Given the description of an element on the screen output the (x, y) to click on. 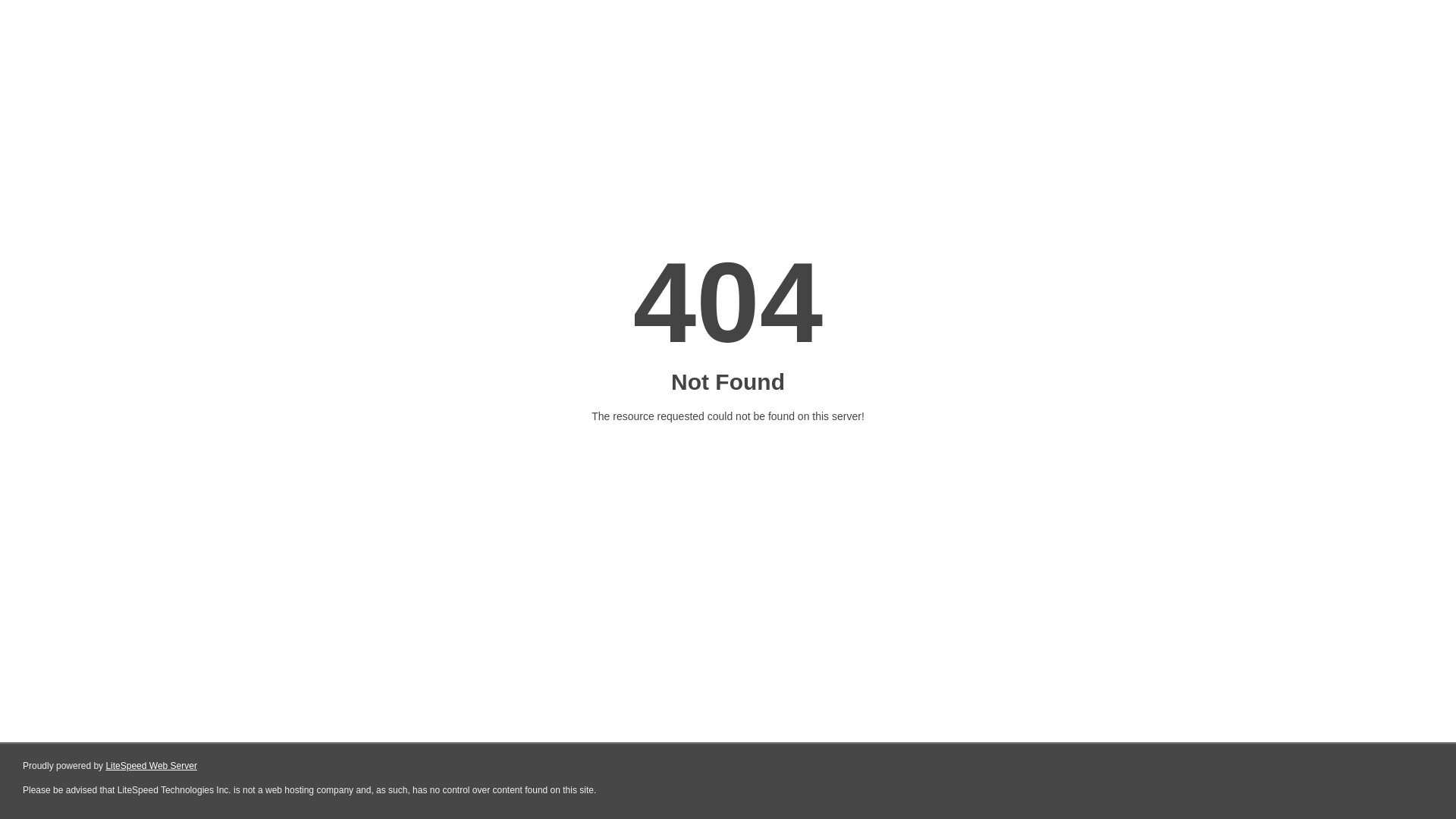
LiteSpeed Web Server Element type: text (151, 765)
